Given the description of an element on the screen output the (x, y) to click on. 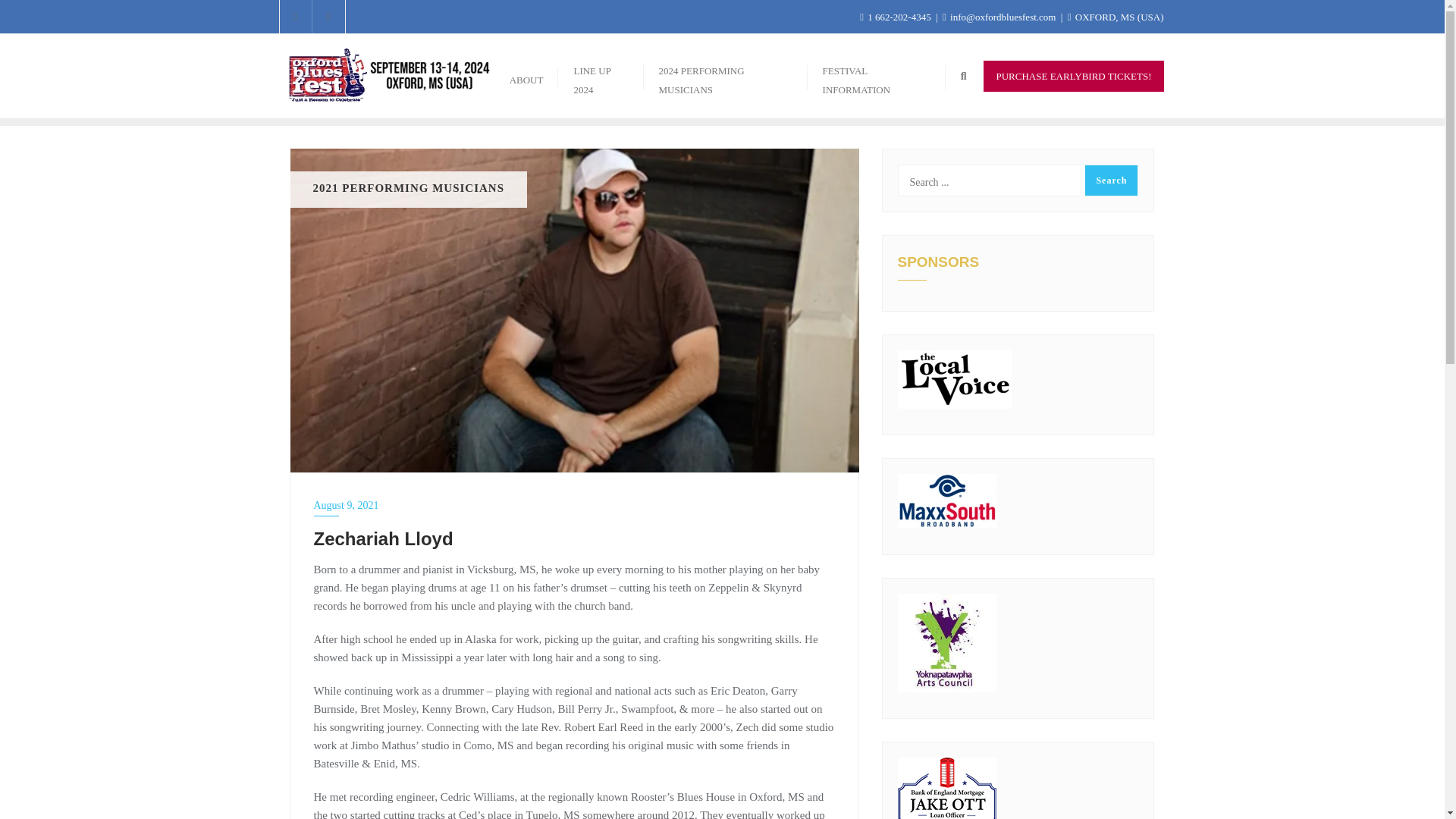
LINE UP 2024 (600, 76)
PURCHASE EARLYBIRD TICKETS! (1073, 76)
Search (1110, 180)
ABOUT (527, 75)
August 9, 2021 (574, 505)
FESTIVAL INFORMATION (876, 76)
2024 PERFORMING MUSICIANS (725, 76)
Search (1110, 180)
Search (1110, 180)
